Given the description of an element on the screen output the (x, y) to click on. 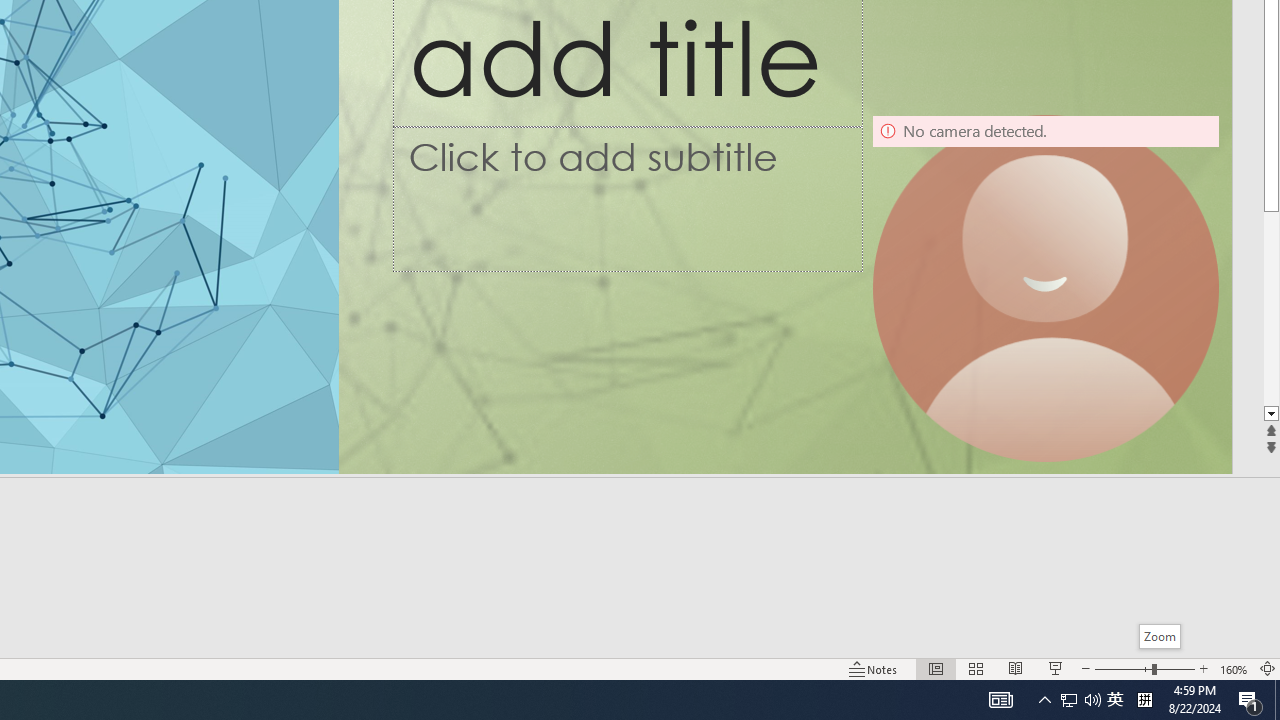
Zoom 160% (1234, 668)
